Given the description of an element on the screen output the (x, y) to click on. 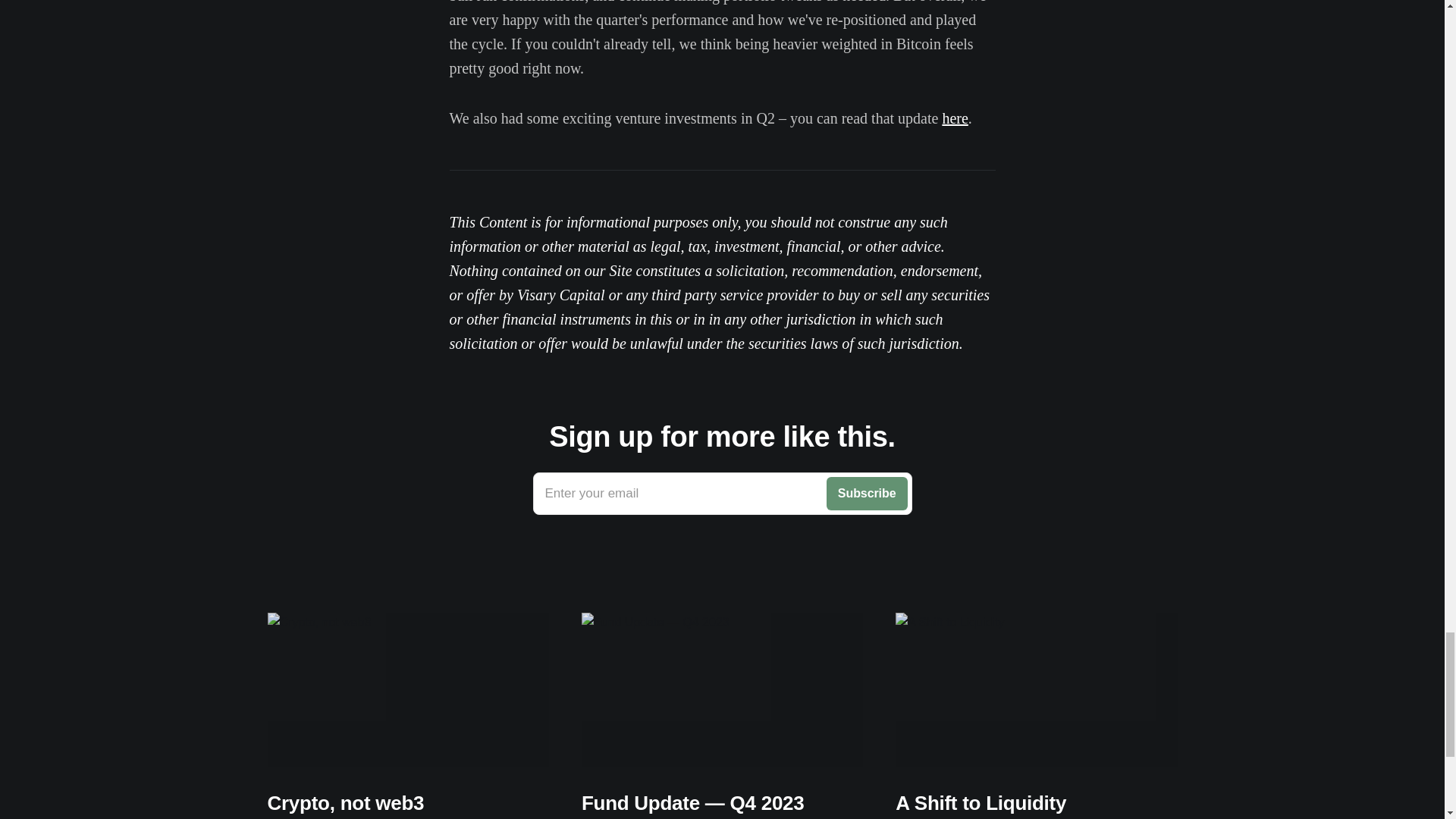
here (955, 117)
